Given the description of an element on the screen output the (x, y) to click on. 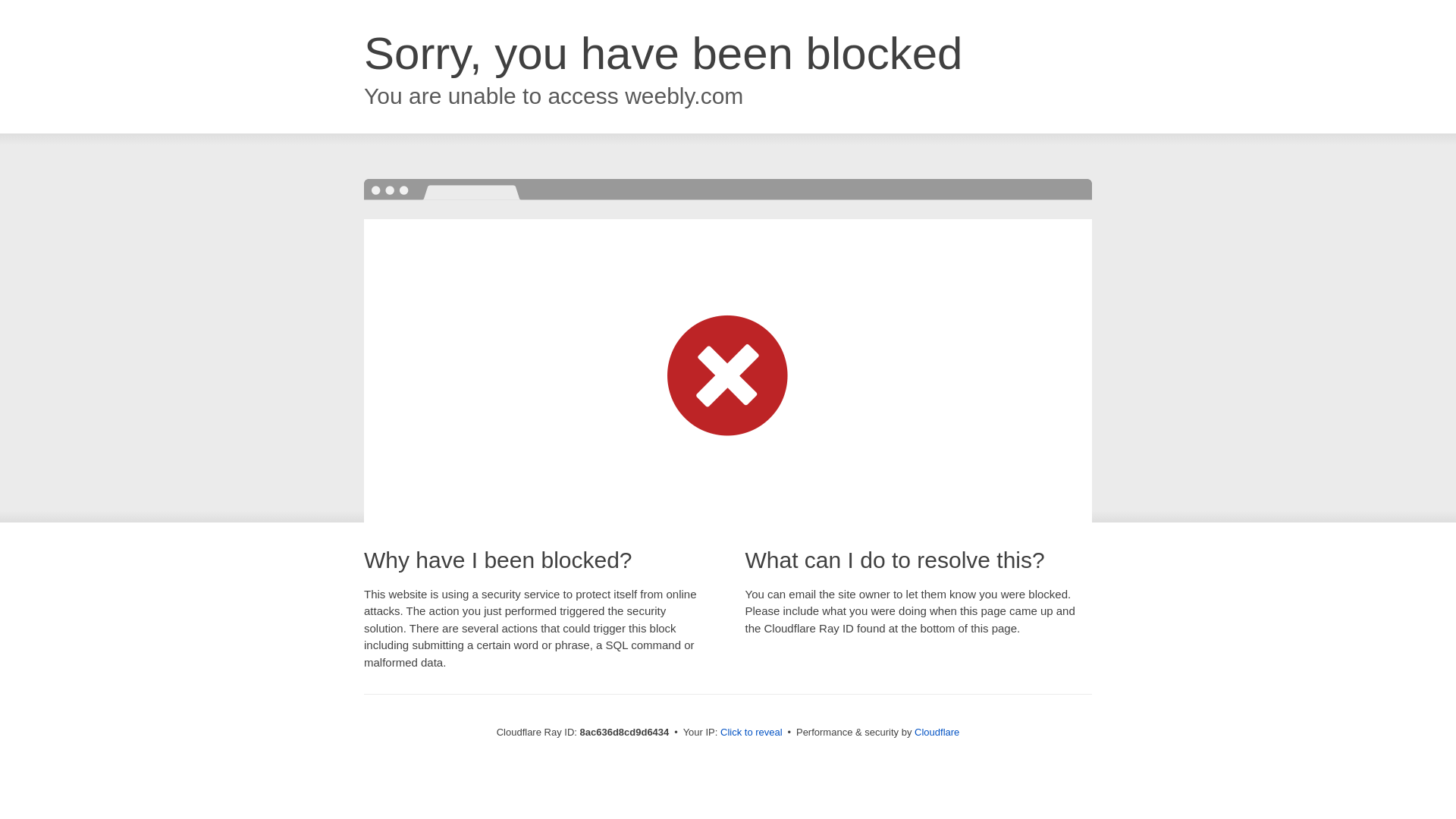
Cloudflare (936, 731)
Click to reveal (751, 732)
